Given the description of an element on the screen output the (x, y) to click on. 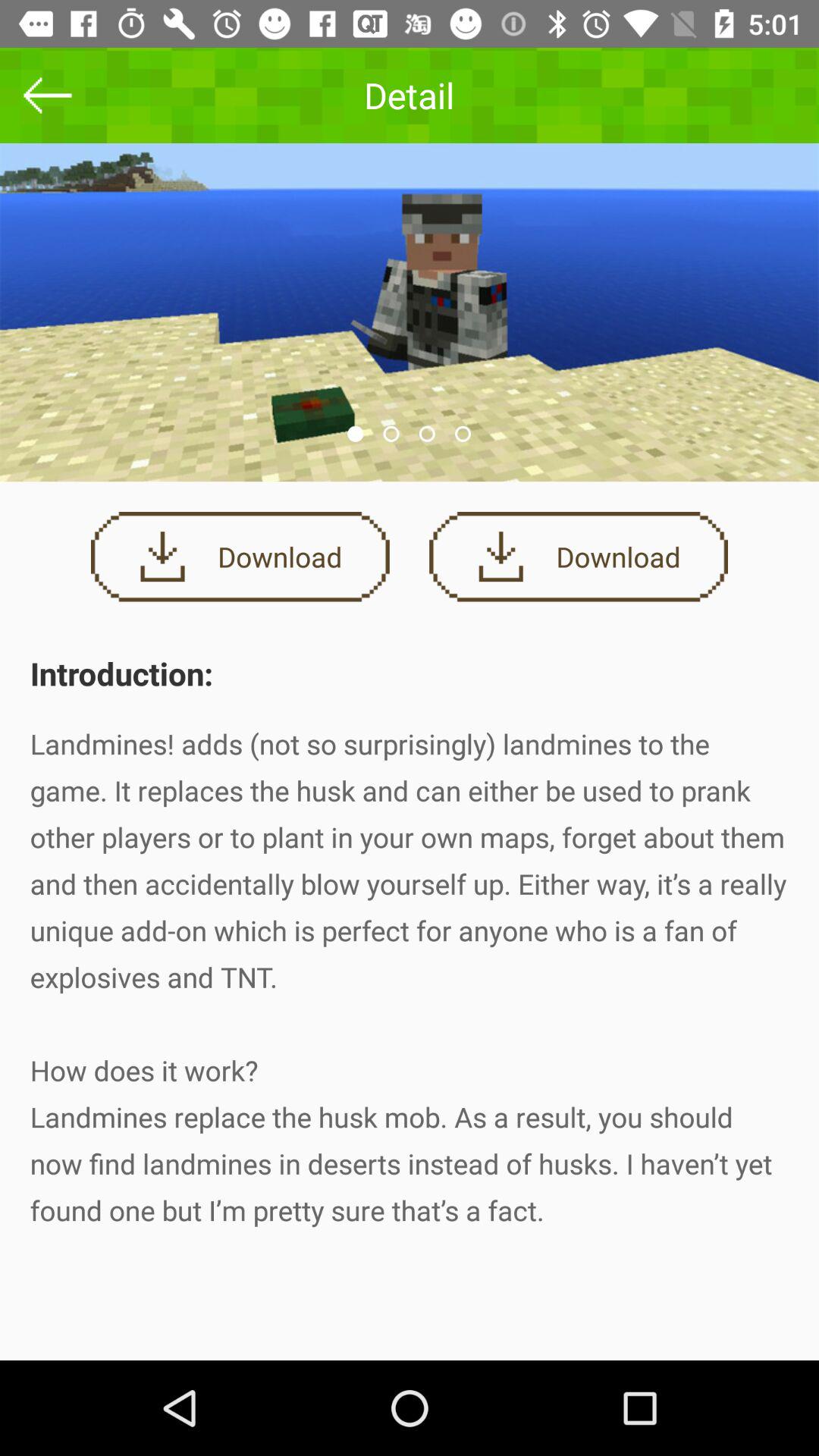
tap the icon next to the detail icon (47, 95)
